Given the description of an element on the screen output the (x, y) to click on. 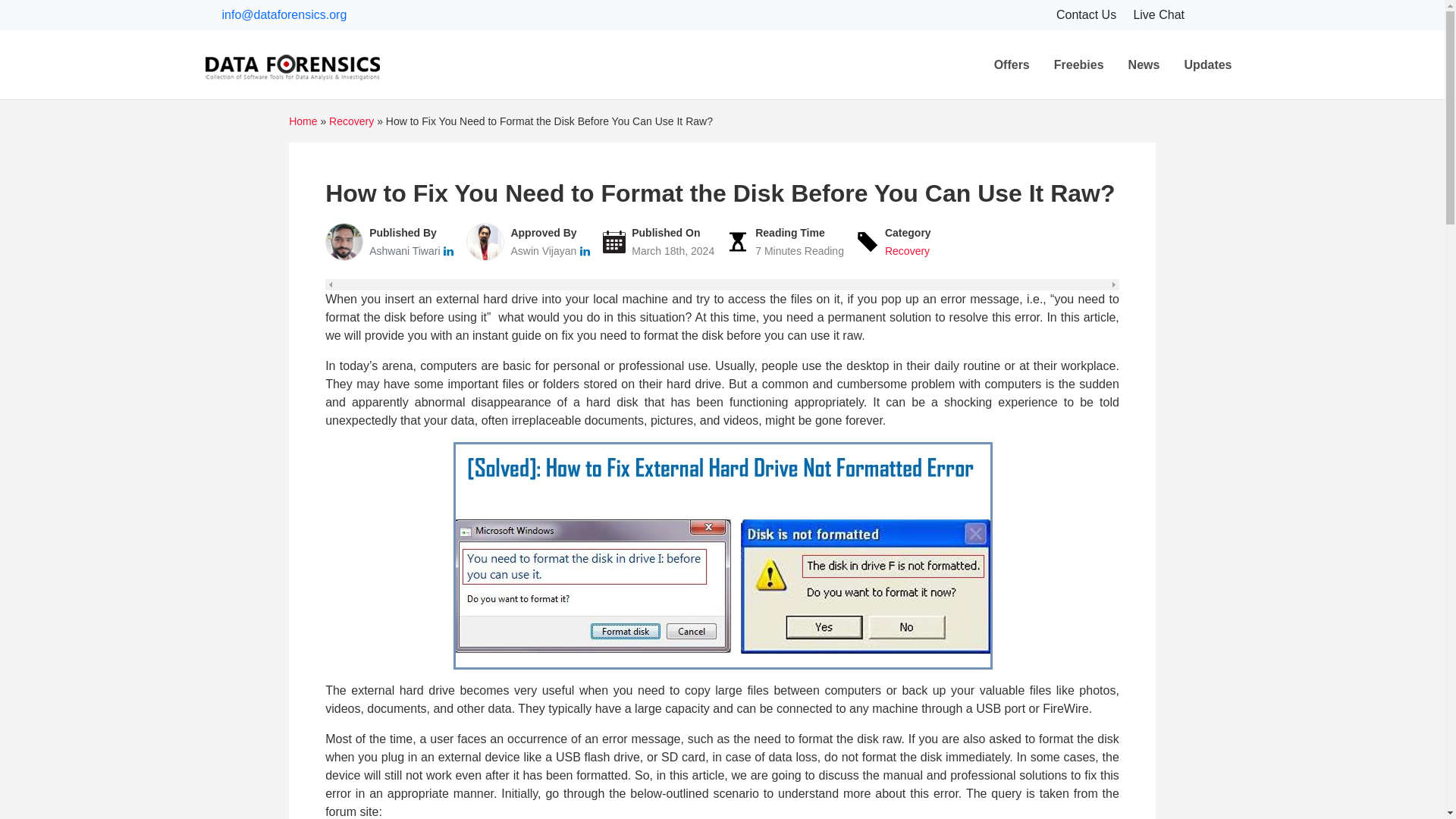
Updates (1207, 64)
Home (302, 121)
Recovery (351, 121)
Offers (1011, 64)
Recovery (907, 250)
Freebies (1079, 64)
Ashwani Tiwari (405, 250)
News (1144, 64)
Contact Us (1088, 14)
Live Chat (1158, 14)
